Given the description of an element on the screen output the (x, y) to click on. 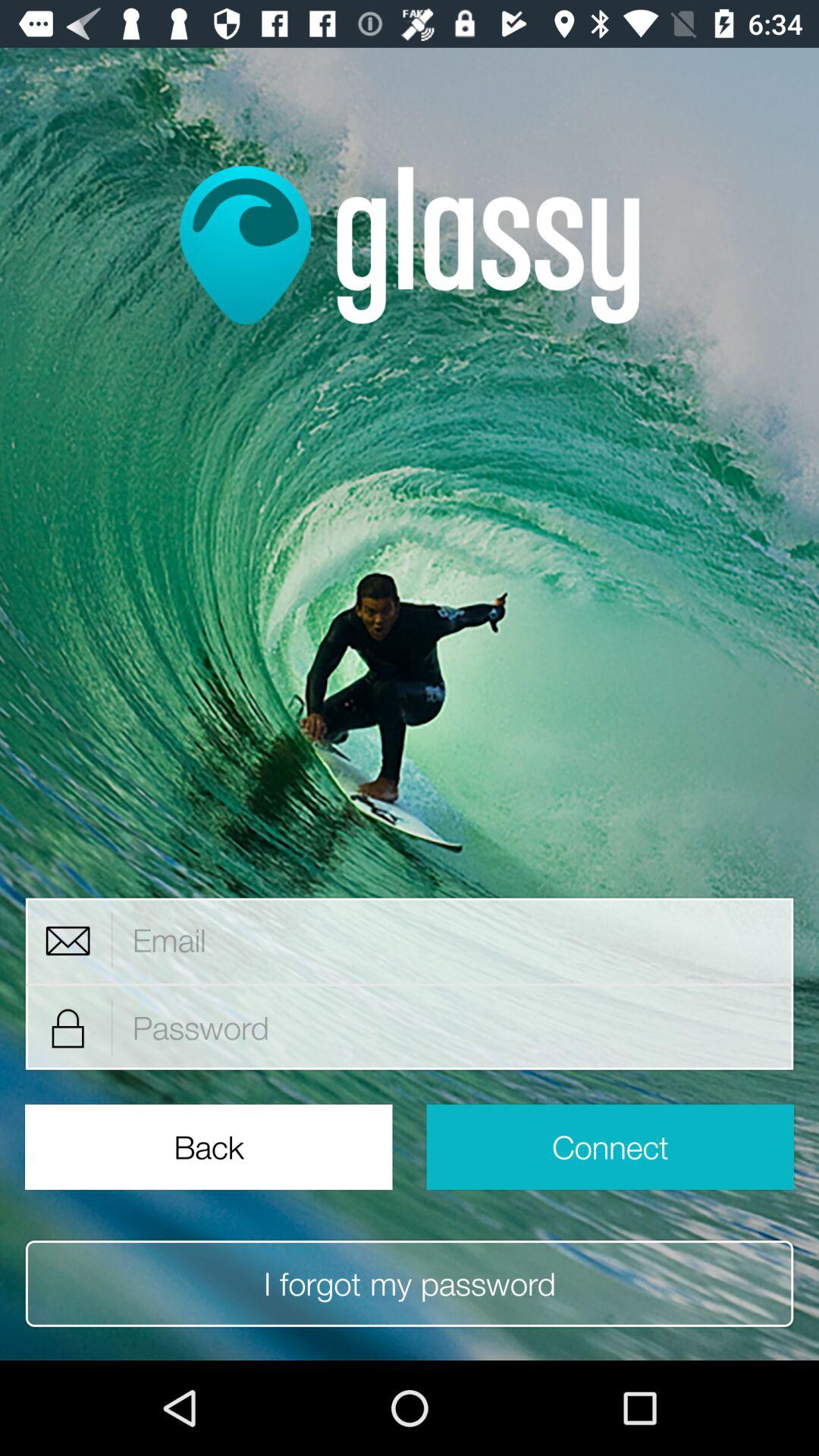
click the item to the right of back icon (609, 1146)
